Given the description of an element on the screen output the (x, y) to click on. 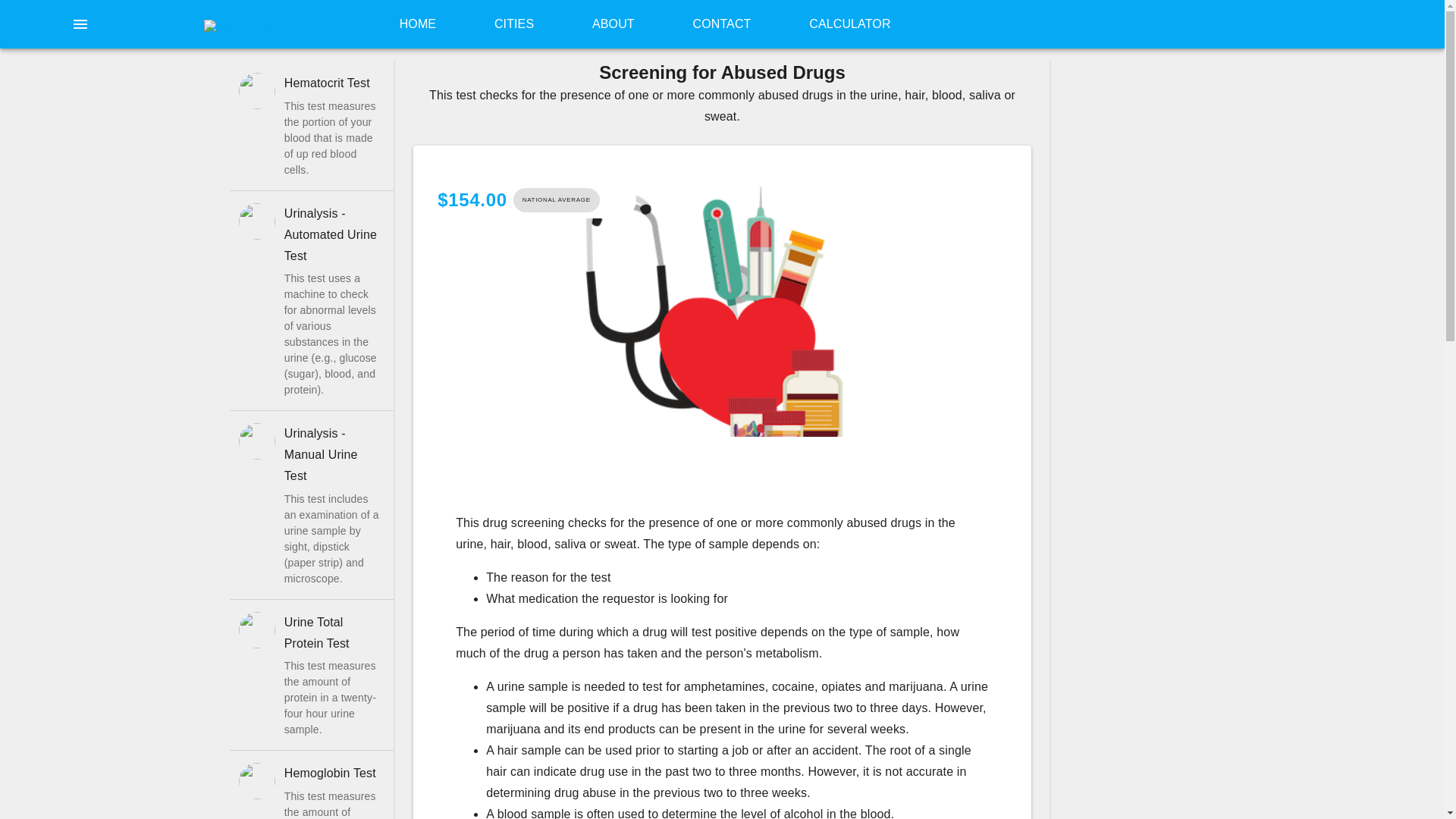
CITIES (514, 24)
HOME (416, 24)
CALCULATOR (849, 24)
CONTACT (722, 24)
ABOUT (613, 24)
